Given the description of an element on the screen output the (x, y) to click on. 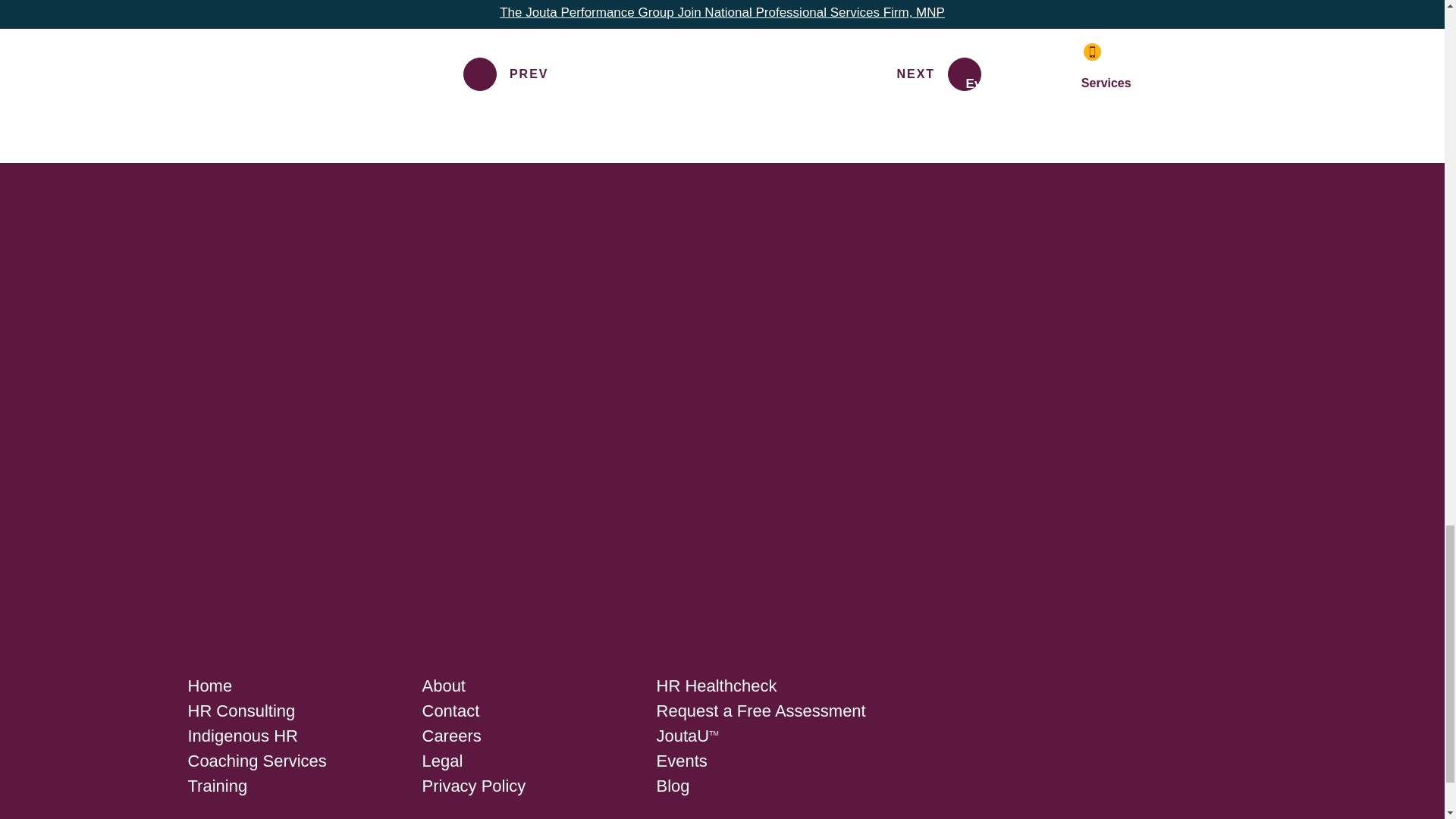
Home (209, 685)
Jouta (223, 608)
NEXT (938, 74)
HR Consulting (241, 710)
PREV (505, 74)
Indigenous HR (242, 735)
